Given the description of an element on the screen output the (x, y) to click on. 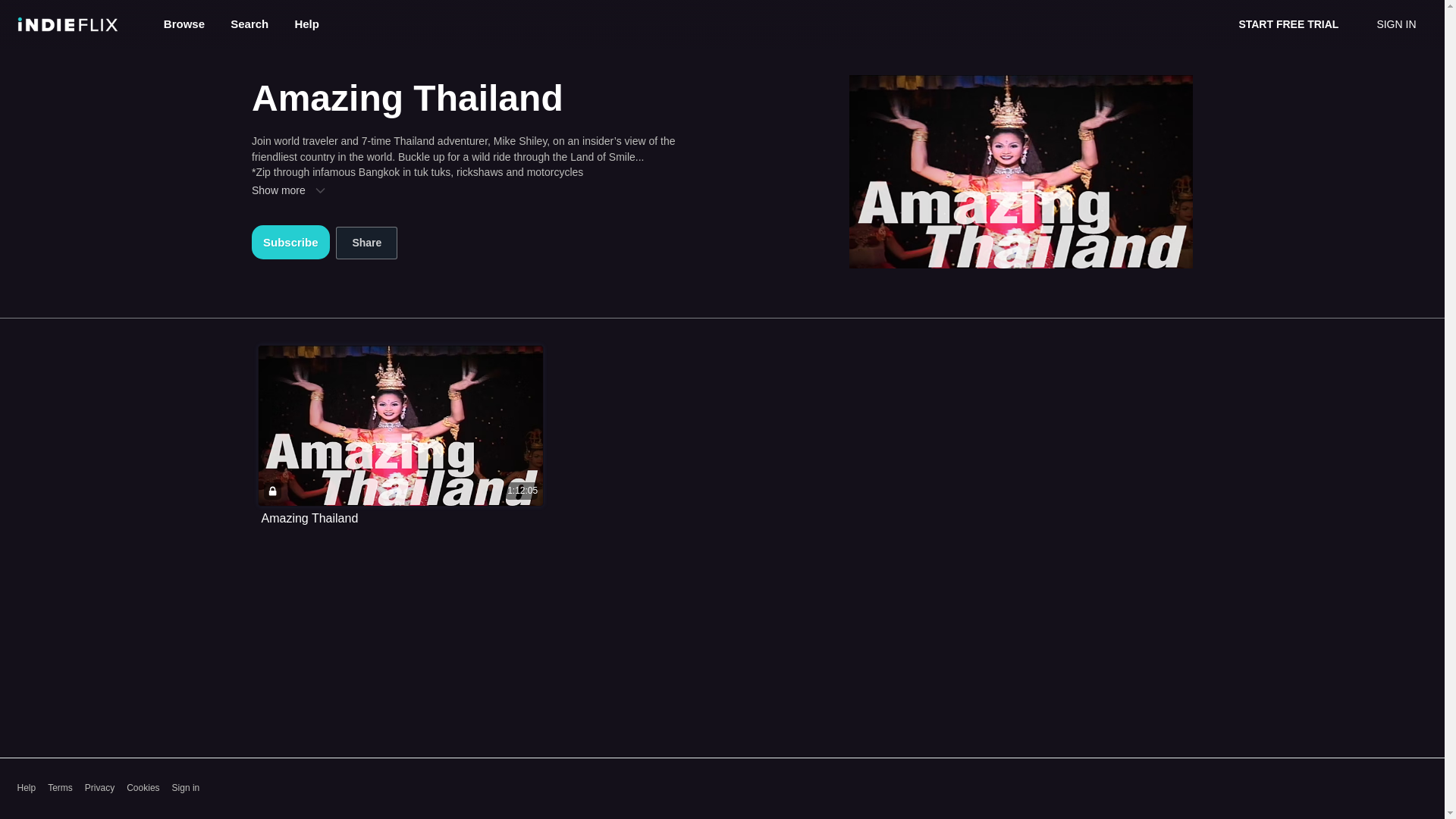
Sign in (185, 788)
Share (366, 242)
SIGN IN (1395, 24)
Help (306, 23)
Browse (185, 23)
Privacy (99, 788)
Terms (60, 788)
Search (250, 23)
1:12:05 (400, 425)
Cookies (142, 788)
Help (25, 788)
Amazing Thailand (309, 517)
Subscribe (290, 242)
Amazing Thailand (309, 518)
START FREE TRIAL (1288, 24)
